Given the description of an element on the screen output the (x, y) to click on. 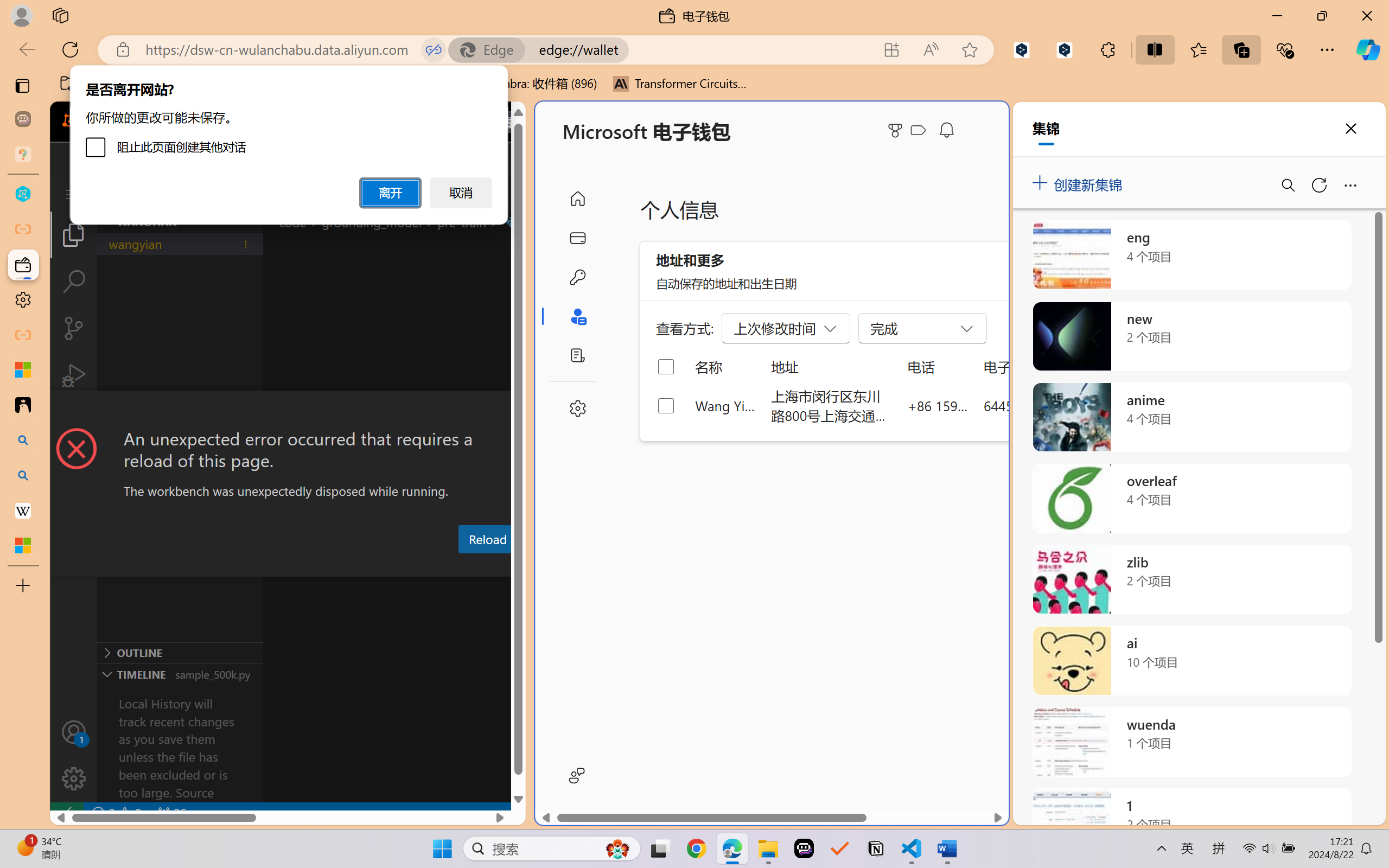
Problems (Ctrl+Shift+M) (308, 565)
Reload (486, 538)
Outline Section (179, 652)
Class: actions-container (287, 410)
Run and Debug (Ctrl+Shift+D) (73, 375)
Google Chrome (696, 848)
